Given the description of an element on the screen output the (x, y) to click on. 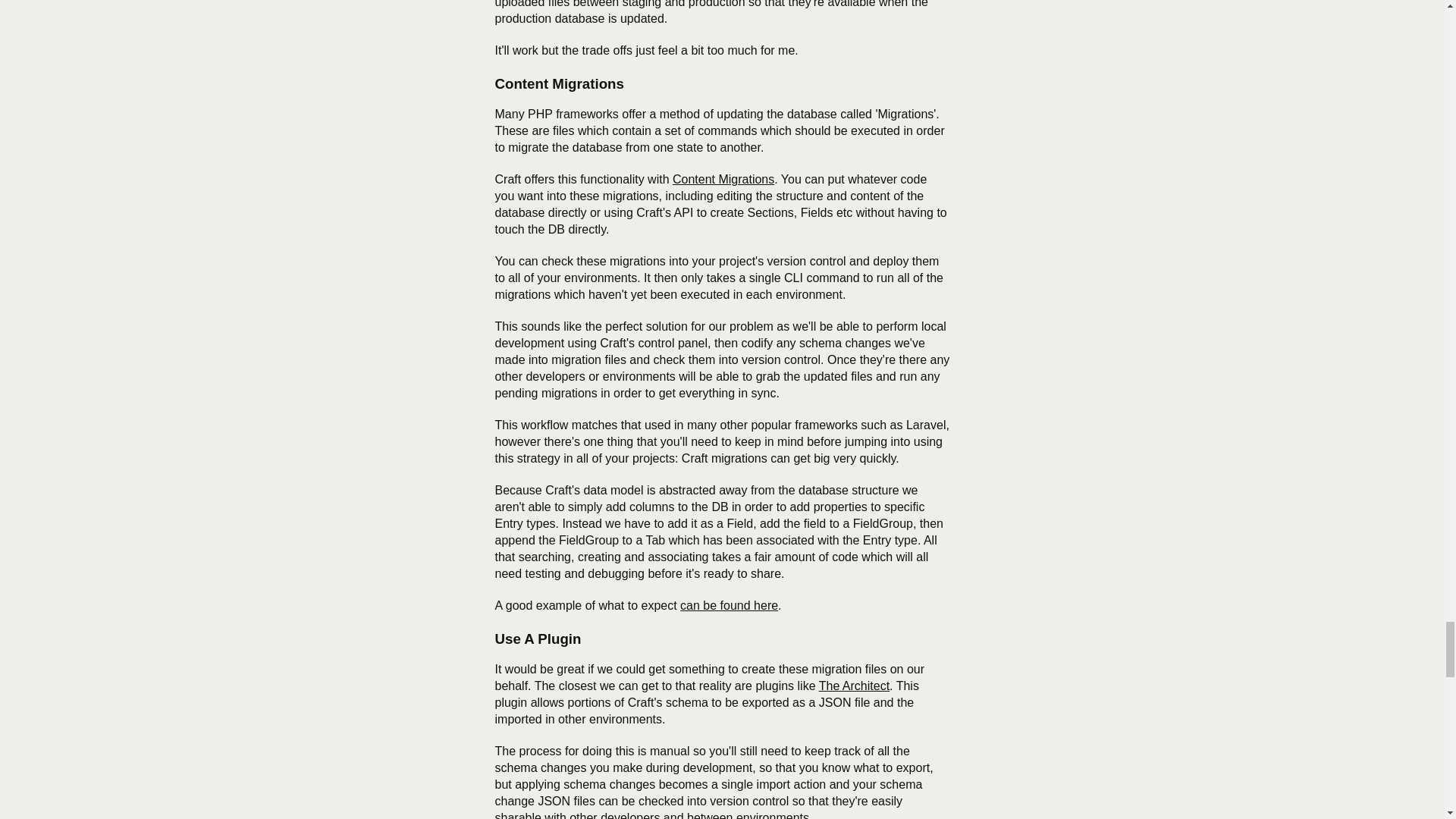
The Architect (853, 685)
can be found here (728, 604)
Content Migrations (723, 178)
